Given the description of an element on the screen output the (x, y) to click on. 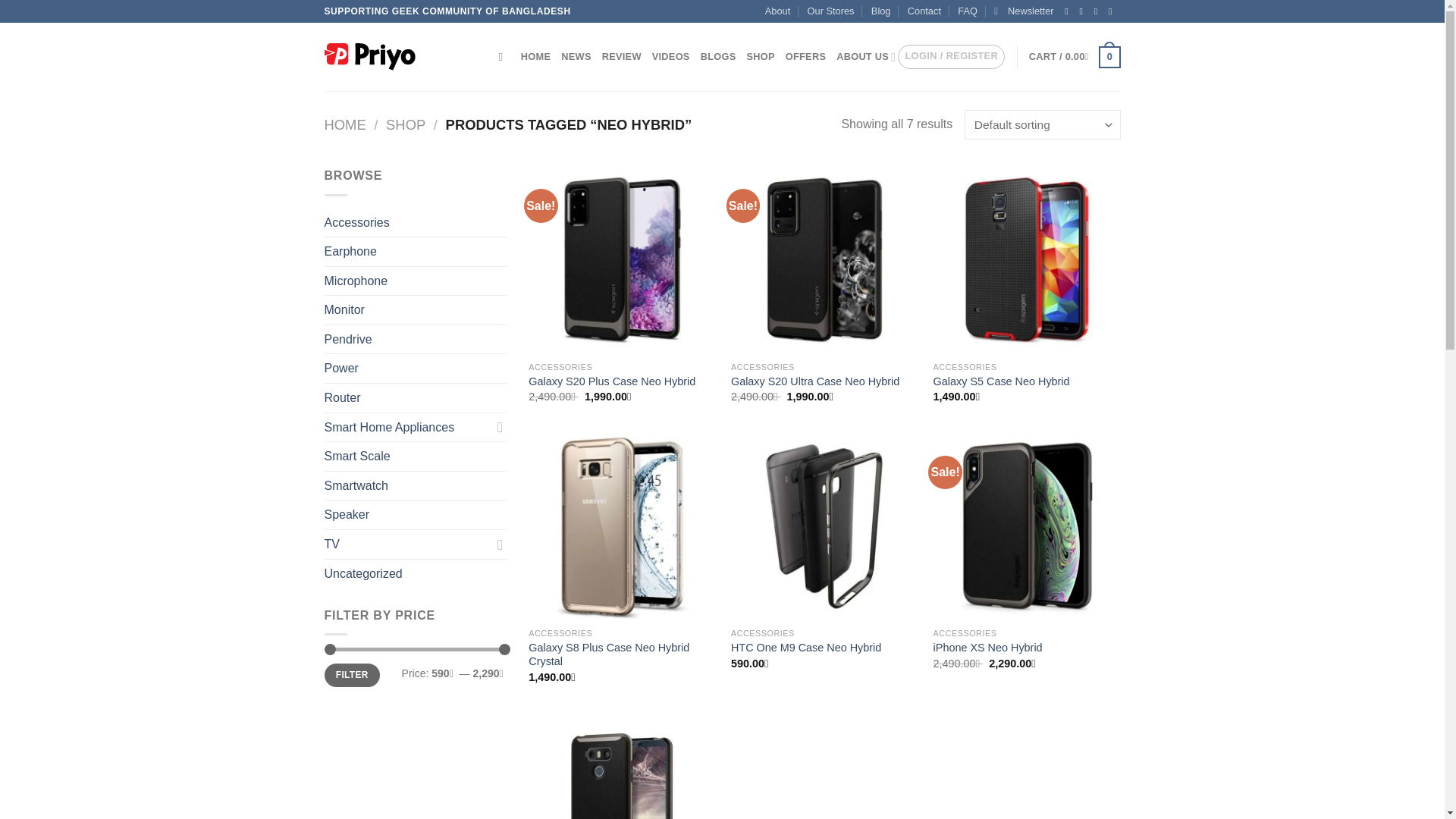
Contact (923, 11)
BLOGS (718, 56)
OFFERS (805, 56)
Newsletter (1023, 11)
Accessories (415, 222)
HOME (345, 124)
Sign up for Newsletter (1023, 11)
Follow on Facebook (1069, 10)
Cart (1075, 57)
SHOP (405, 124)
VIDEOS (671, 56)
NEWS (575, 56)
FAQ (967, 11)
Monitor (415, 309)
REVIEW (622, 56)
